Given the description of an element on the screen output the (x, y) to click on. 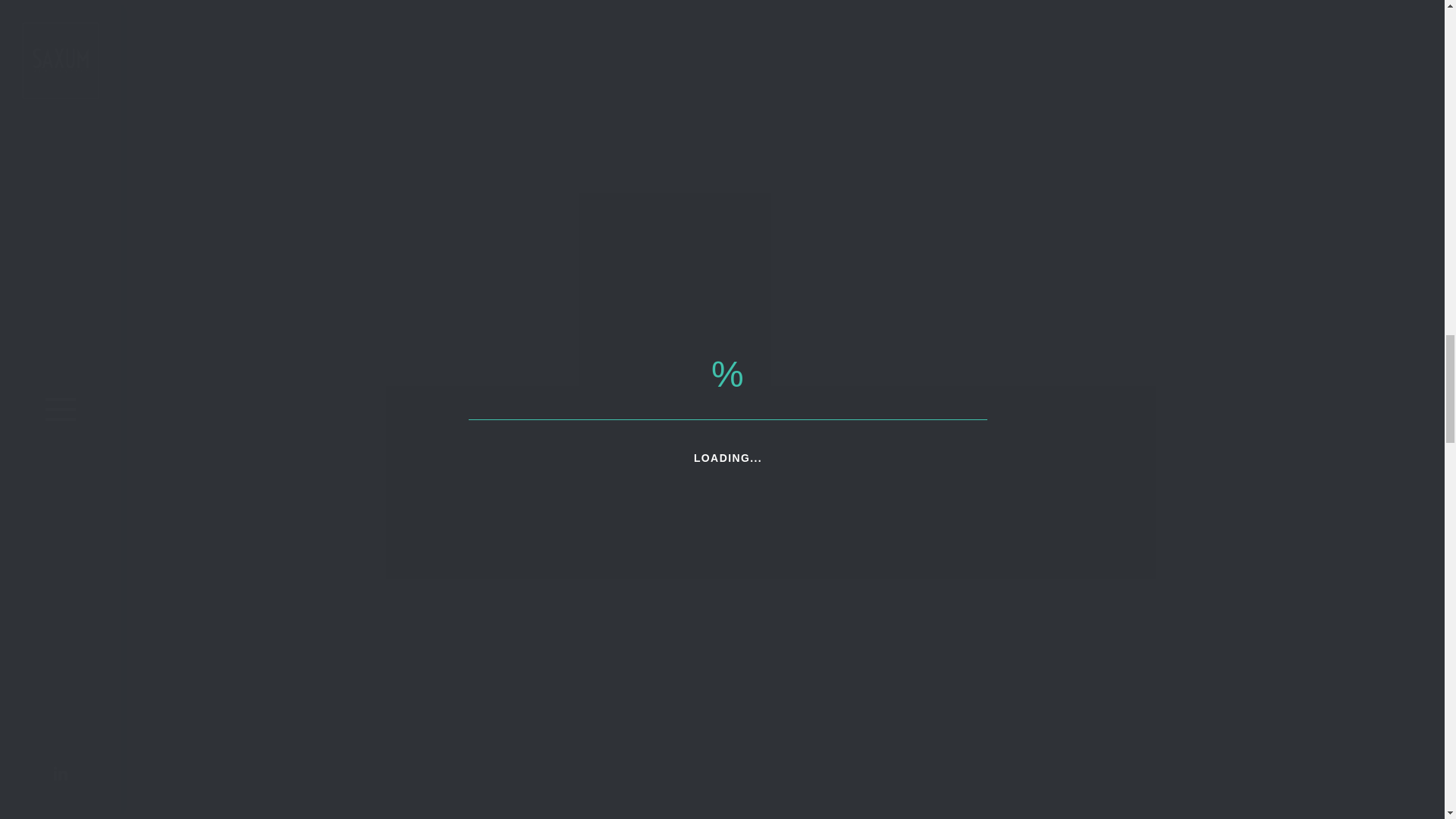
SHADYSIDE ANIMATED RENDERING (523, 806)
